Given the description of an element on the screen output the (x, y) to click on. 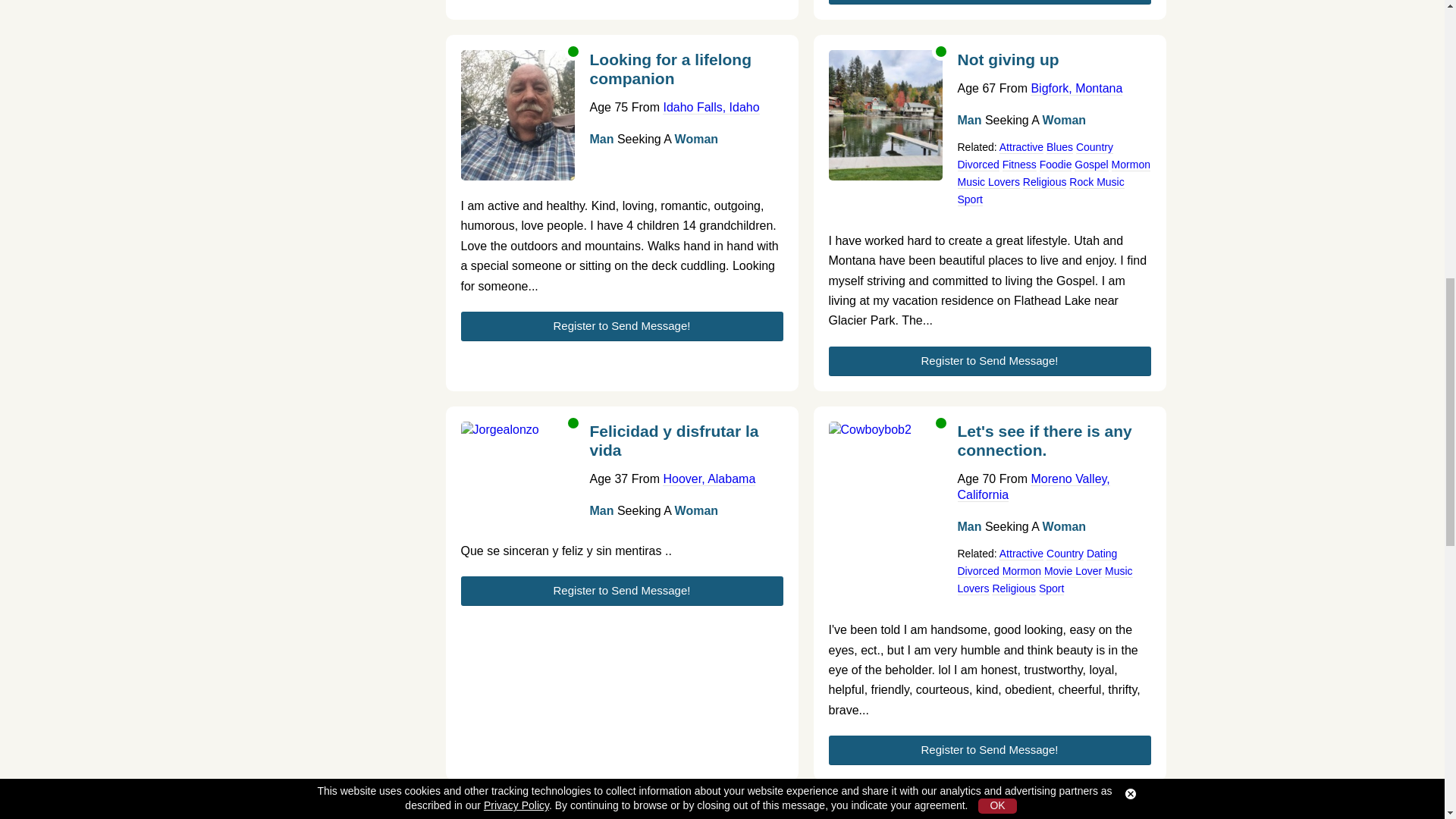
Looking for a lifelong companion (686, 74)
Register to Send Message! (989, 2)
Idaho Falls, Idaho (710, 106)
Register to Send Message! (622, 326)
